Given the description of an element on the screen output the (x, y) to click on. 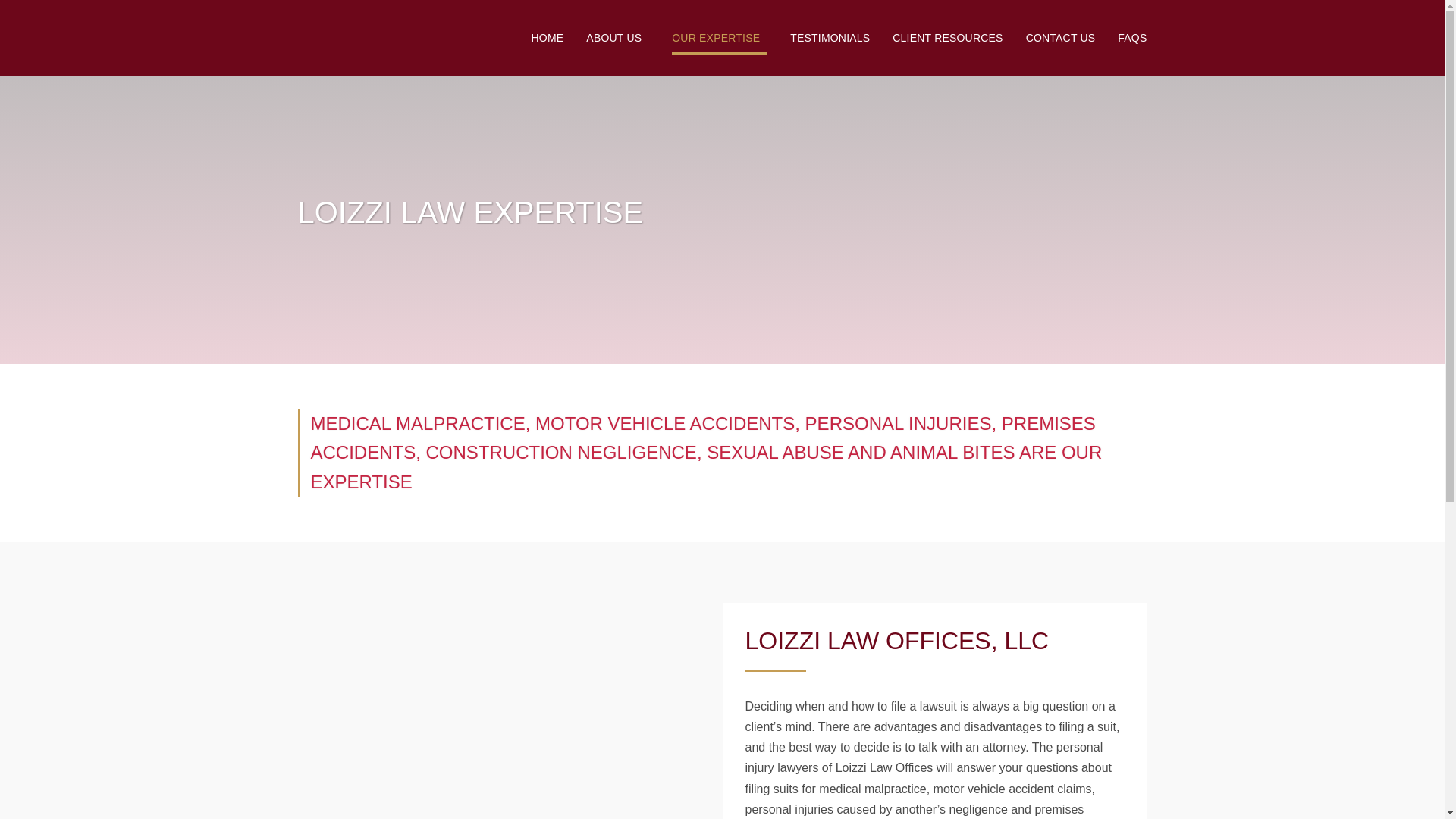
ABOUT US (617, 37)
CONTACT US (1061, 37)
CLIENT RESOURCES (947, 37)
OUR EXPERTISE (719, 37)
HOME (547, 37)
TESTIMONIALS (829, 37)
